Given the description of an element on the screen output the (x, y) to click on. 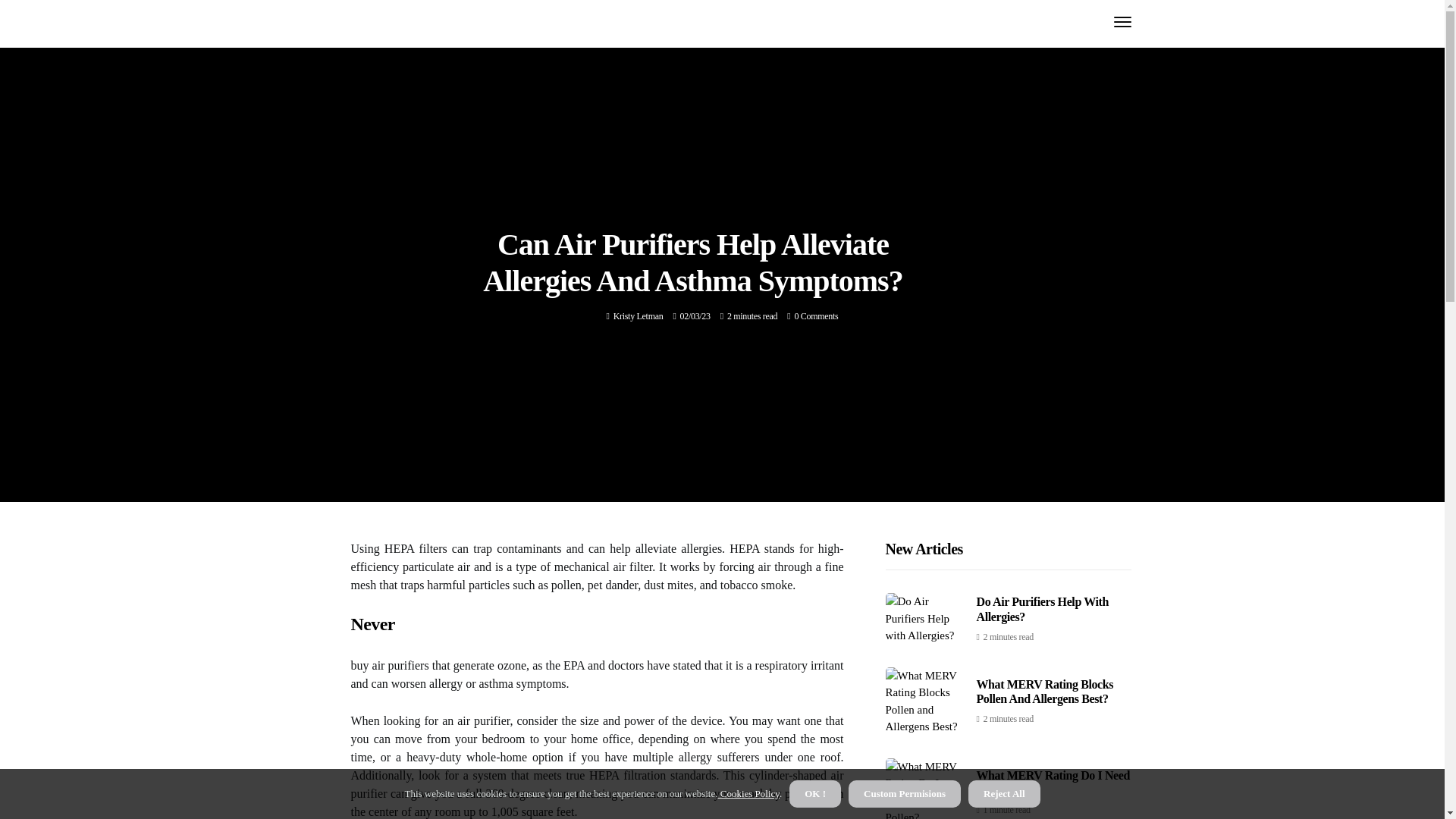
0 Comments (815, 316)
What MERV Rating Do I Need For Pollen? (1053, 782)
Kristy Letman (637, 316)
Posts by Kristy Letman (637, 316)
Do Air Purifiers Help With Allergies? (1042, 608)
What MERV Rating Blocks Pollen And Allergens Best? (1044, 691)
